Given the description of an element on the screen output the (x, y) to click on. 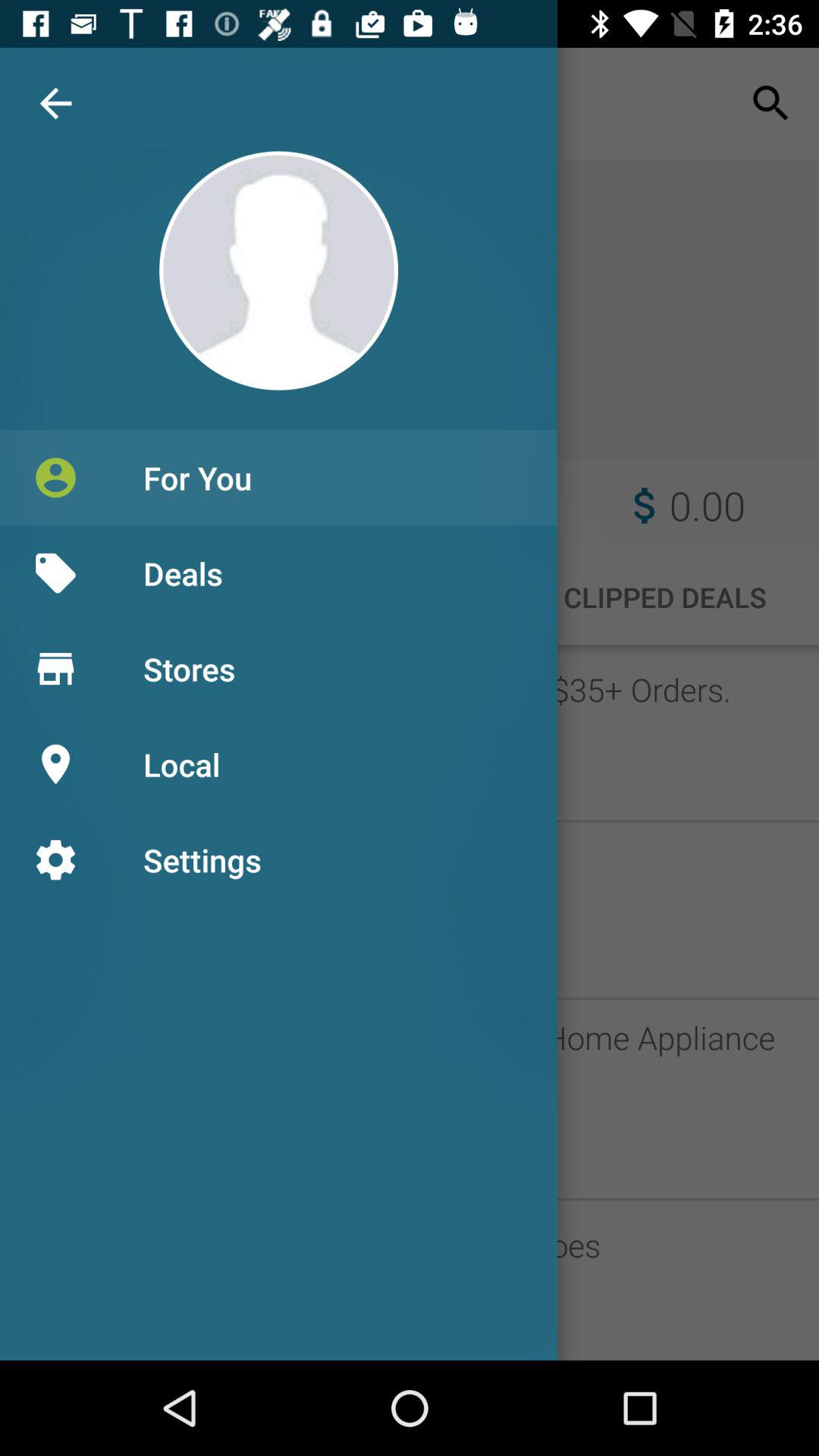
click on icon beside for you (55, 478)
click on search button which is at top right corner of the page (771, 103)
